Given the description of an element on the screen output the (x, y) to click on. 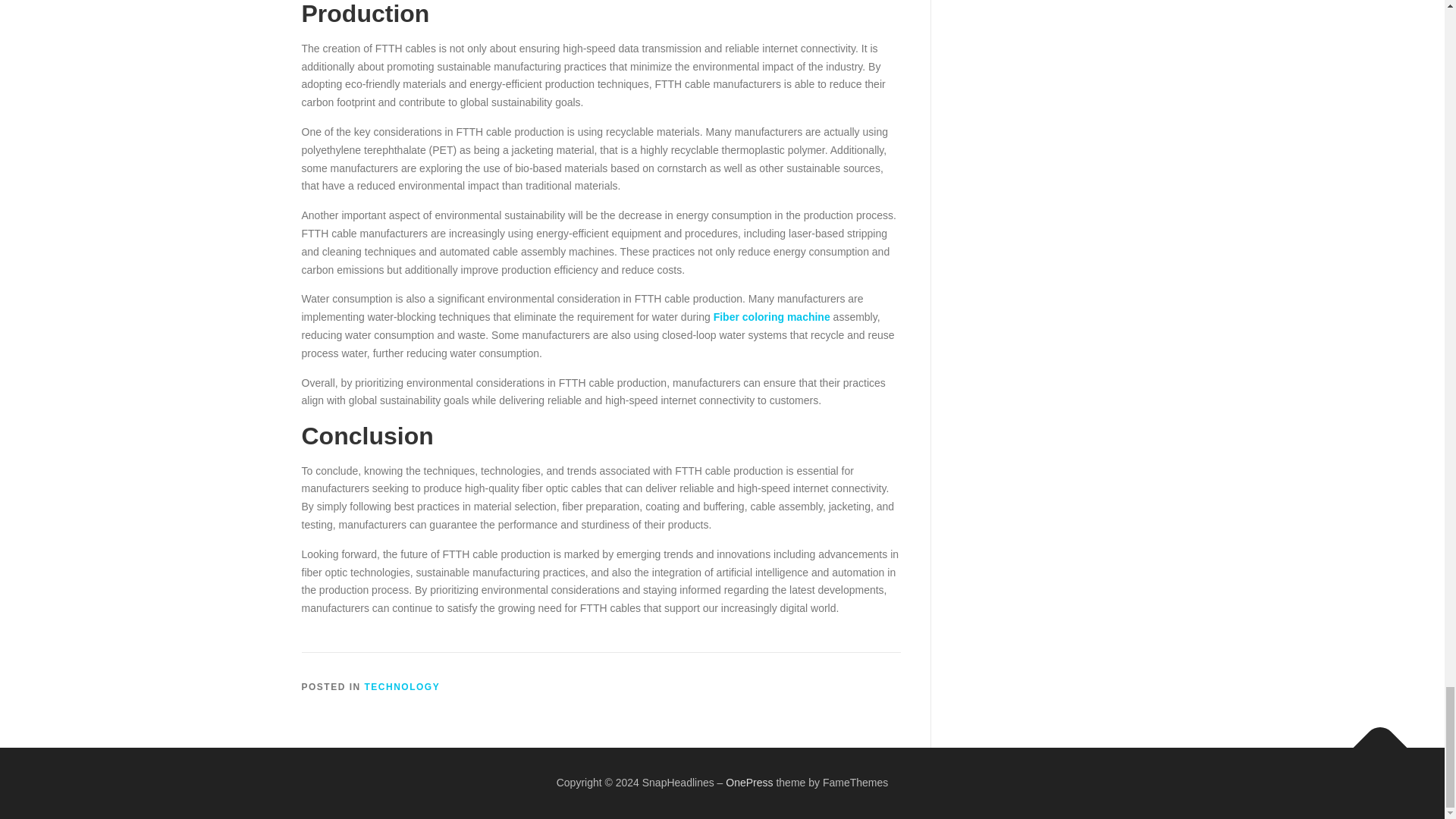
Back To Top (1372, 740)
Fiber coloring machine (771, 316)
TECHNOLOGY (403, 686)
